Given the description of an element on the screen output the (x, y) to click on. 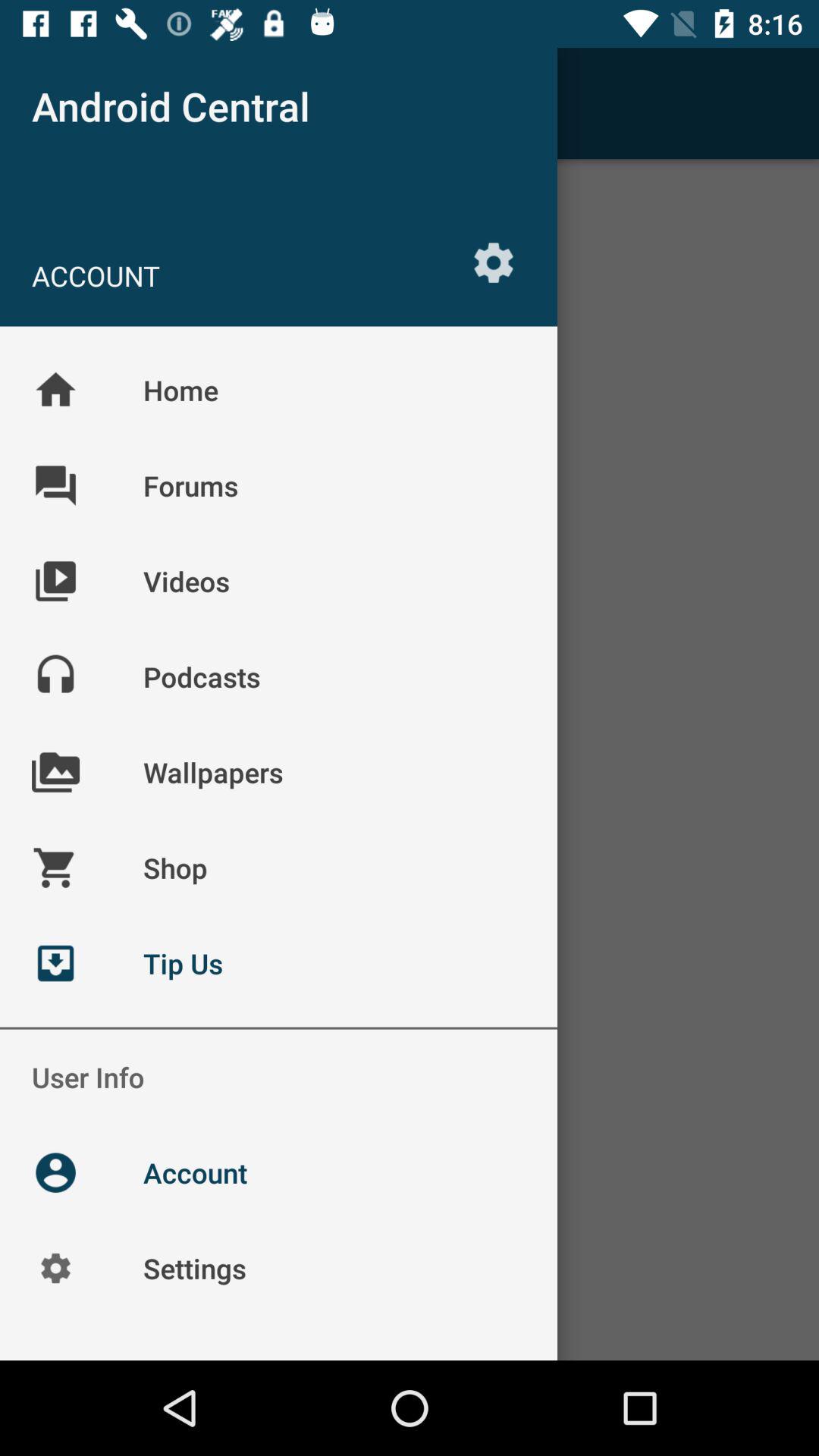
open the item below the android central (493, 262)
